Given the description of an element on the screen output the (x, y) to click on. 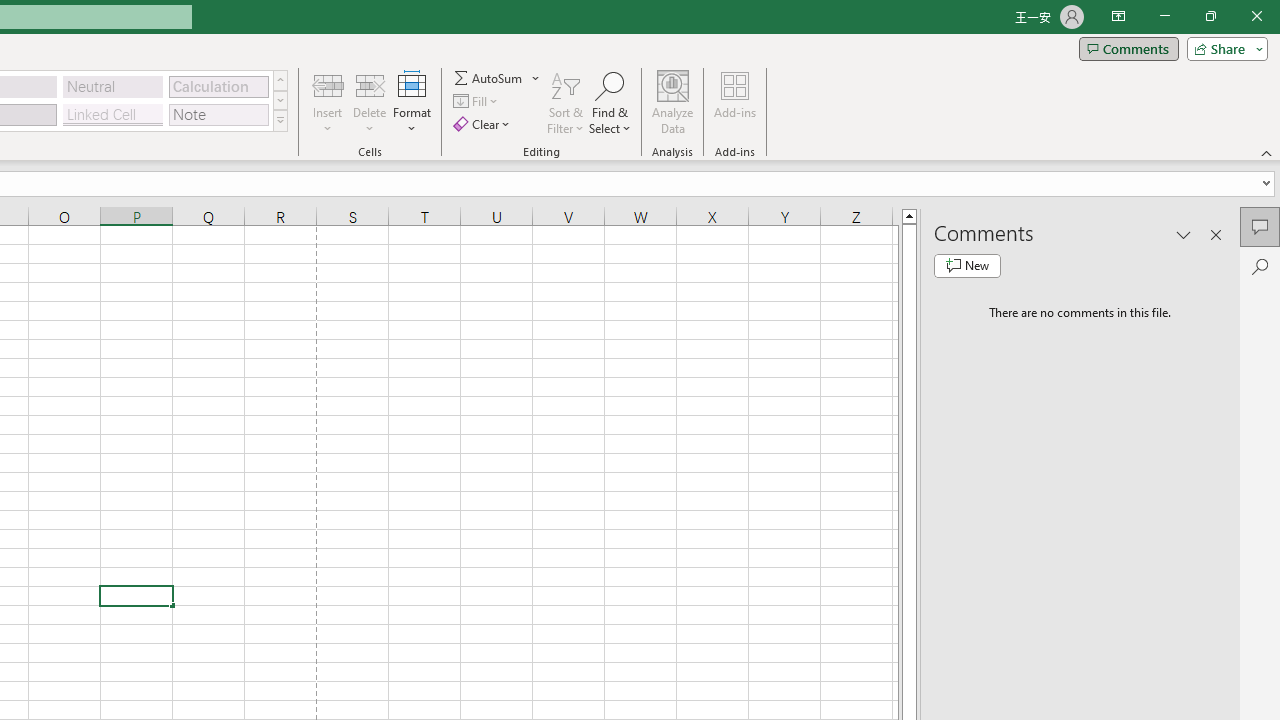
Row Down (280, 100)
Ribbon Display Options (1118, 16)
New comment (967, 265)
Delete (369, 102)
Minimize (1164, 16)
Search (1260, 266)
Neutral (113, 86)
Delete Cells... (369, 84)
Comments (1128, 48)
Fill (477, 101)
Line up (909, 215)
Share (1223, 48)
Insert (328, 102)
